Given the description of an element on the screen output the (x, y) to click on. 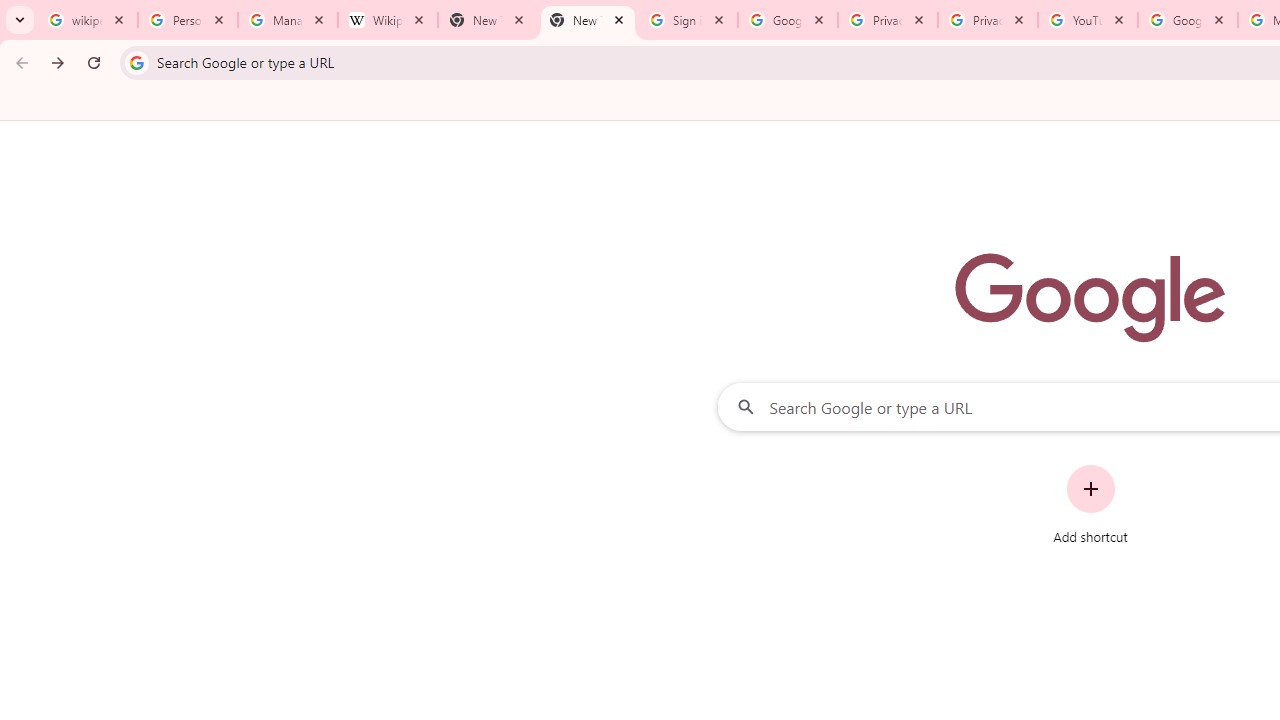
New Tab (487, 20)
Personalization & Google Search results - Google Search Help (188, 20)
Wikipedia:Edit requests - Wikipedia (387, 20)
